Given the description of an element on the screen output the (x, y) to click on. 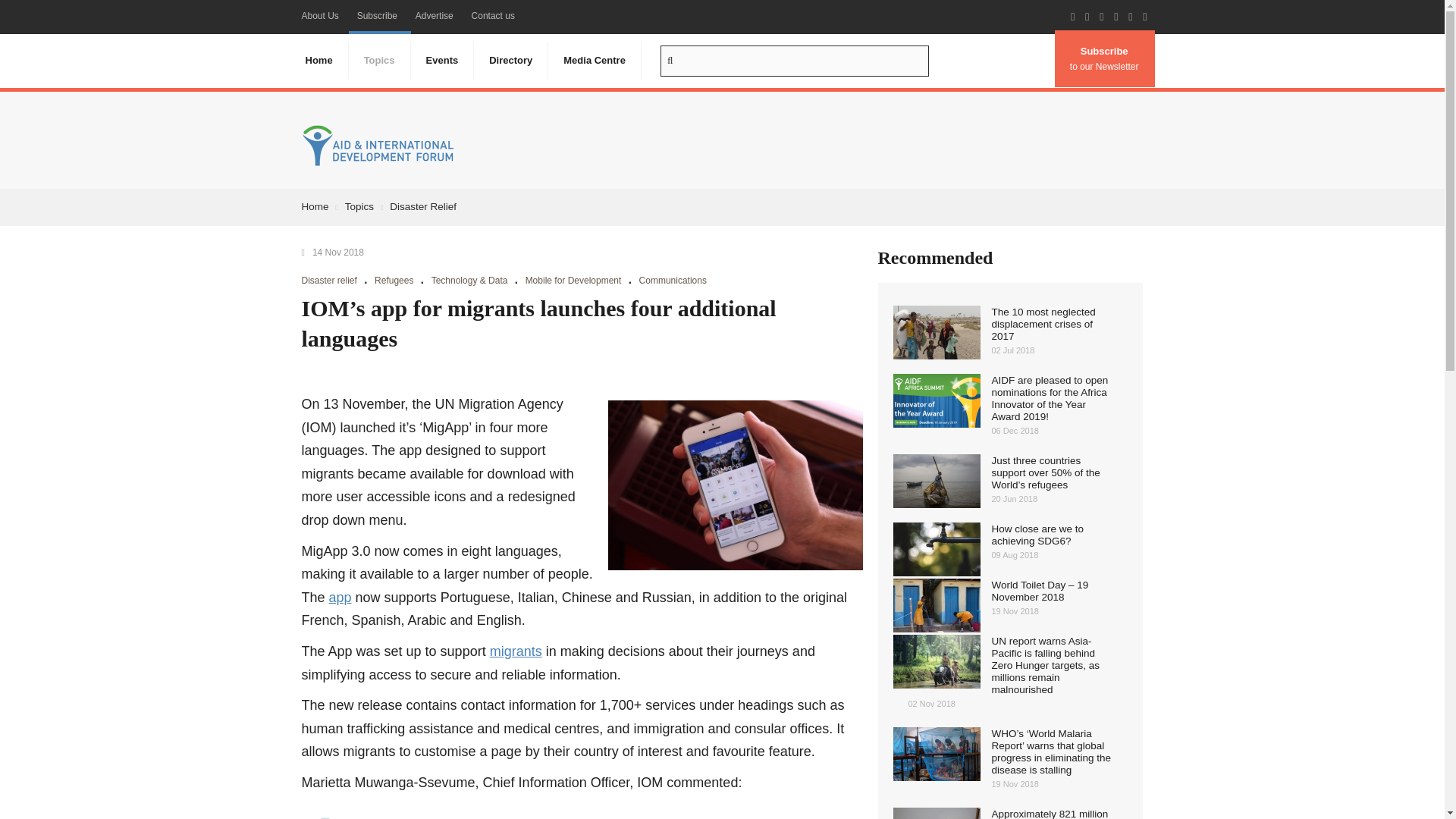
Contact us (493, 15)
Topics (379, 60)
About Us (320, 15)
Home (318, 60)
Subscribe (376, 15)
Advertise (434, 15)
